Given the description of an element on the screen output the (x, y) to click on. 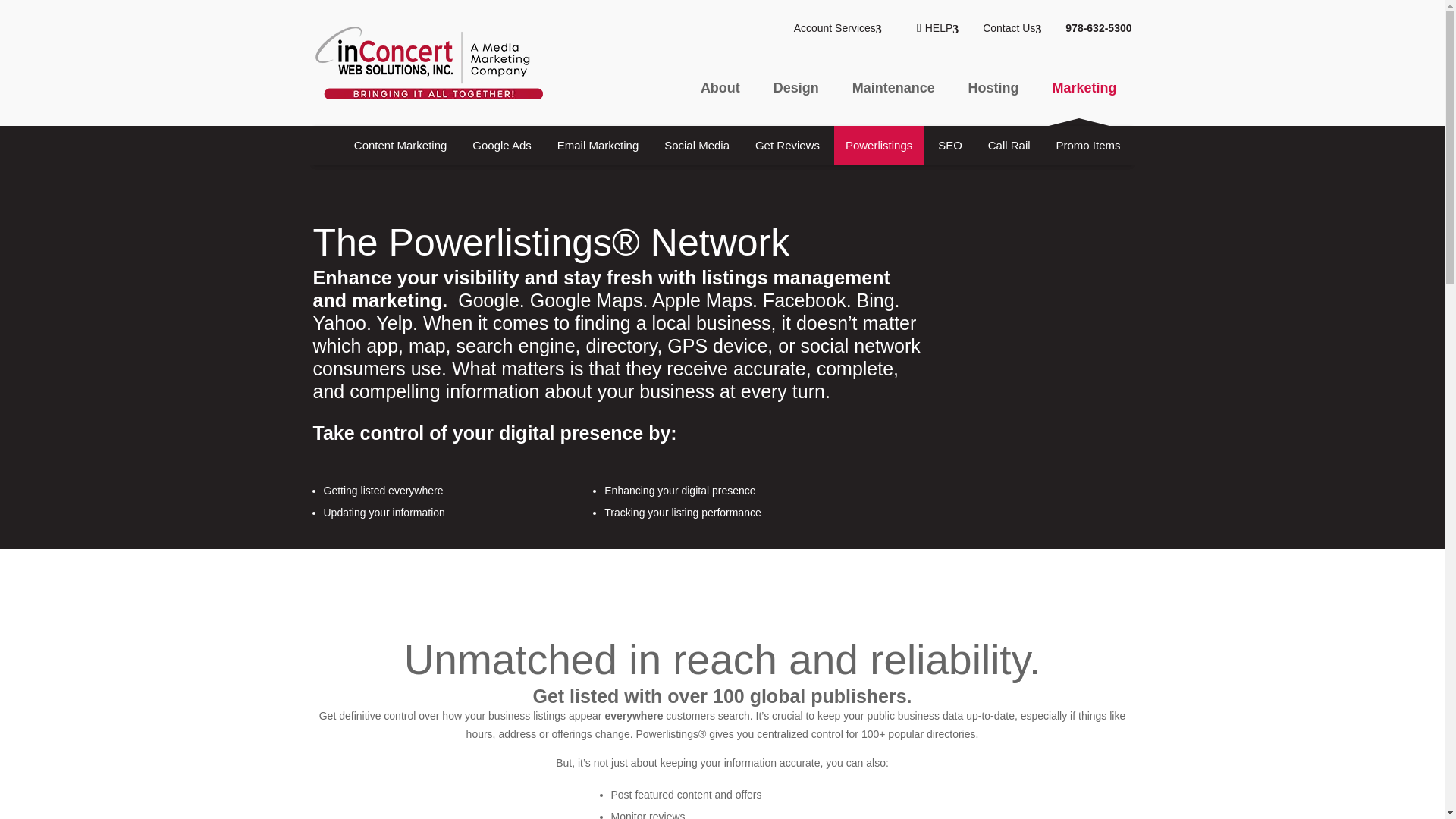
HELP (941, 28)
Write a Review (1033, 145)
About (749, 145)
Purpose (860, 145)
About (720, 104)
Design (796, 104)
Hosting (993, 104)
Contact Us (1011, 28)
Blog (1108, 145)
Maintenance (893, 104)
